Given the description of an element on the screen output the (x, y) to click on. 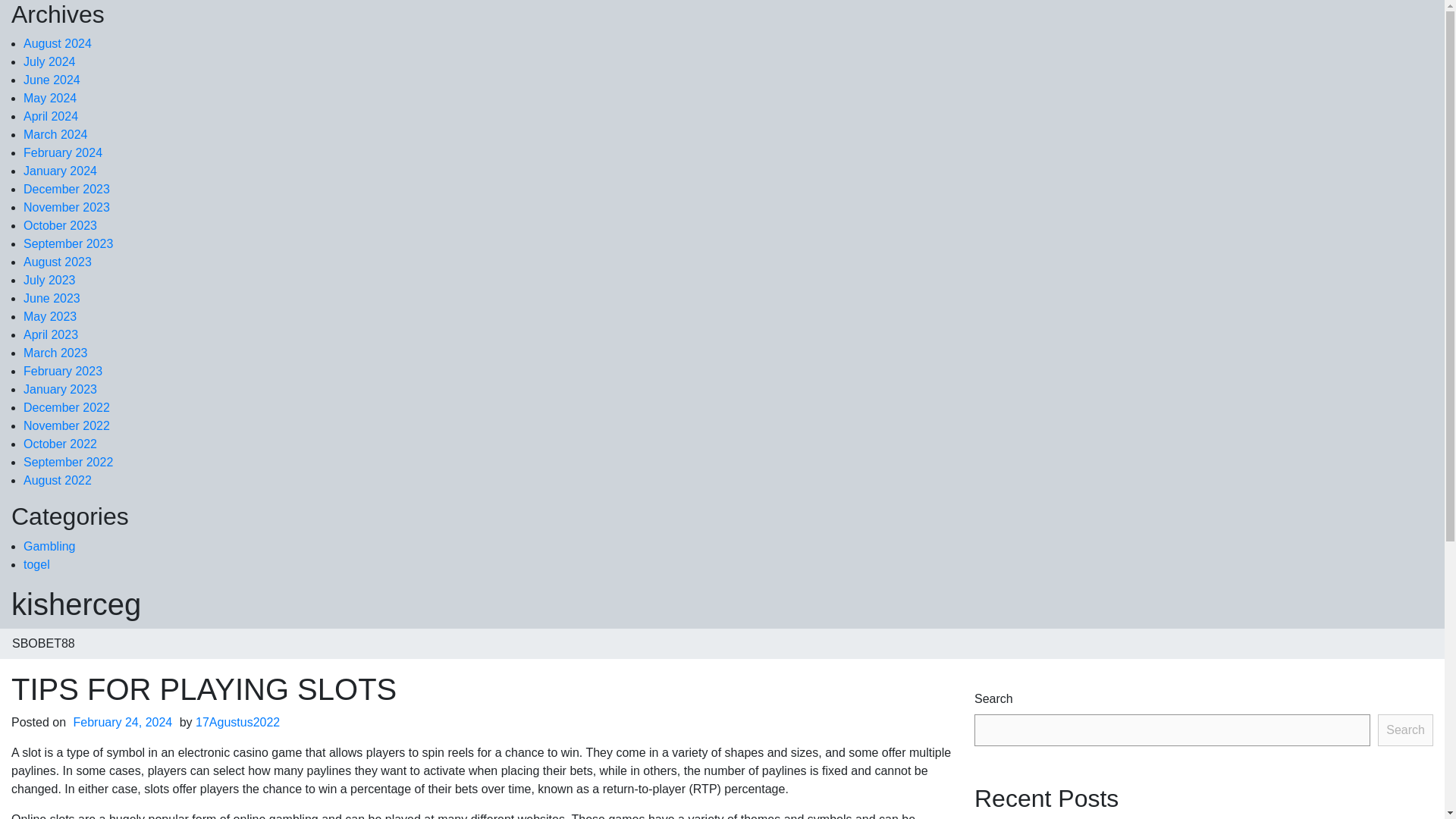
November 2023 (66, 206)
October 2022 (60, 443)
Search (1404, 730)
July 2024 (49, 61)
February 2023 (62, 370)
kisherceg (76, 604)
April 2023 (50, 334)
February 24, 2024 (122, 721)
August 2022 (57, 480)
September 2022 (68, 461)
